Given the description of an element on the screen output the (x, y) to click on. 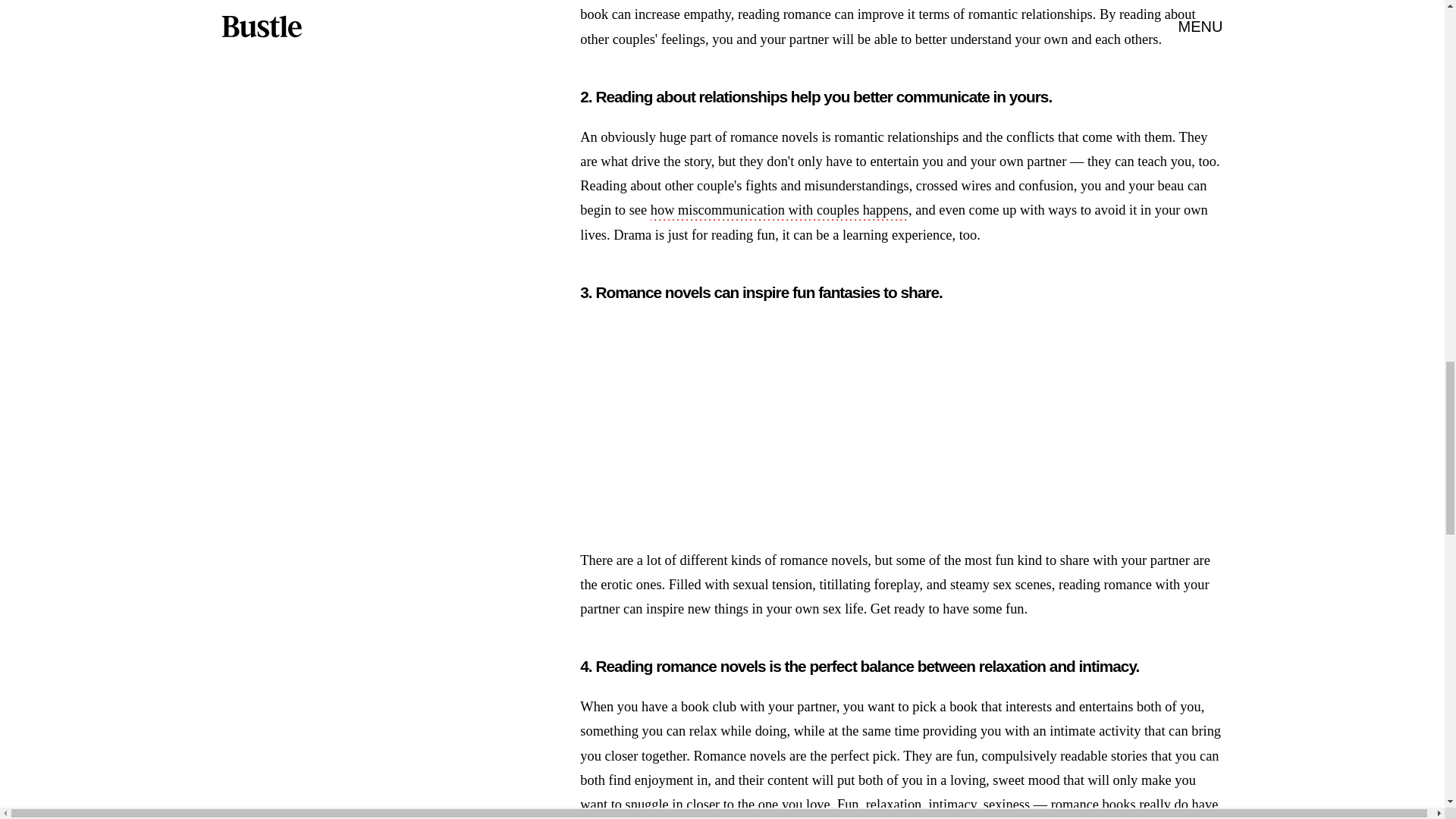
how miscommunication with couples happens (779, 211)
